Given the description of an element on the screen output the (x, y) to click on. 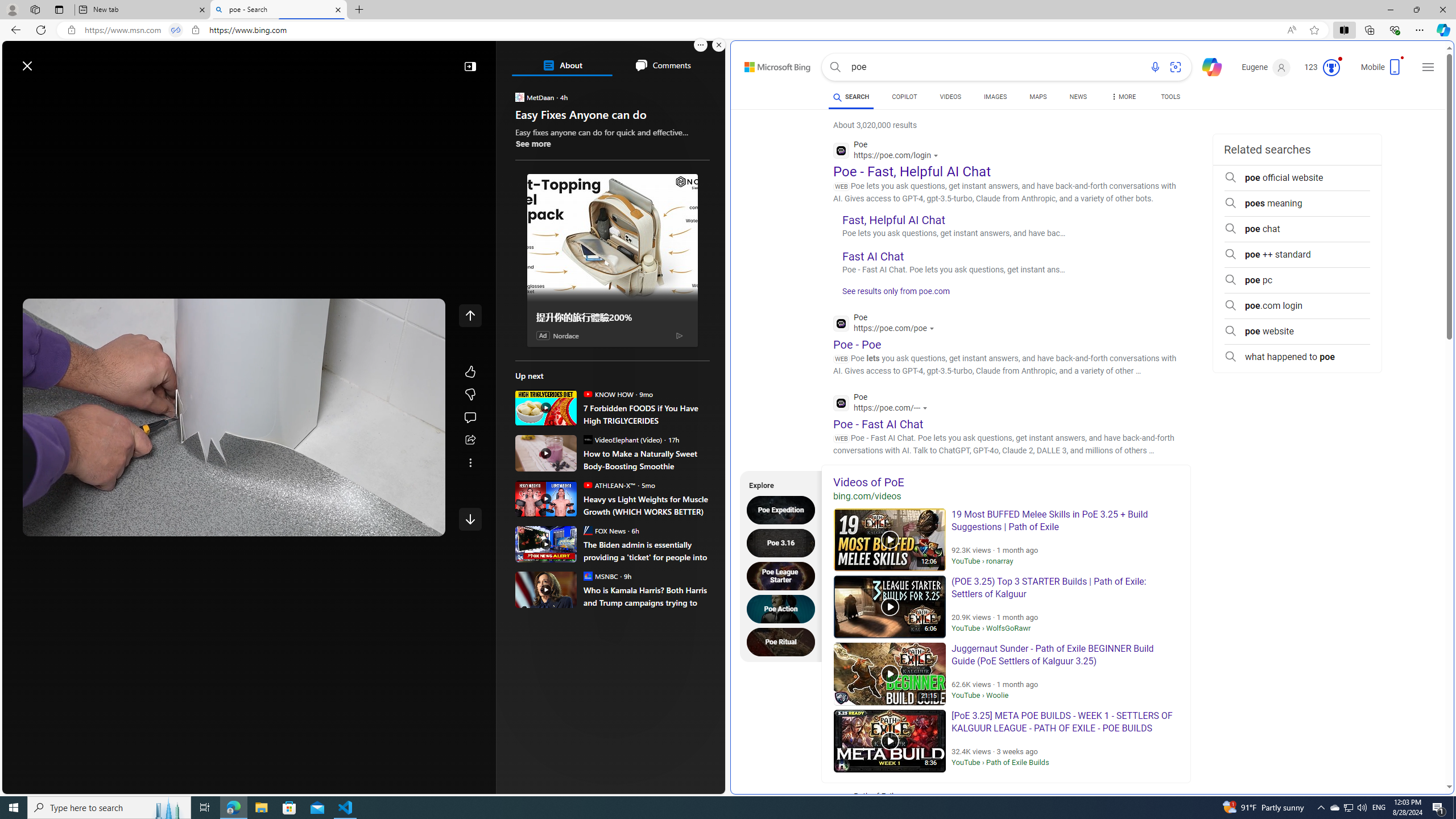
Microsoft Rewards 123 (1323, 67)
Poe 3.16 (783, 542)
Fullscreen (405, 523)
Poe Action (783, 608)
Settings and quick links (1428, 67)
Chat (1207, 65)
poes meaning (1297, 203)
poe pc (1297, 280)
Class: control (469, 518)
FOX News (587, 529)
MSNBC (587, 575)
